Given the description of an element on the screen output the (x, y) to click on. 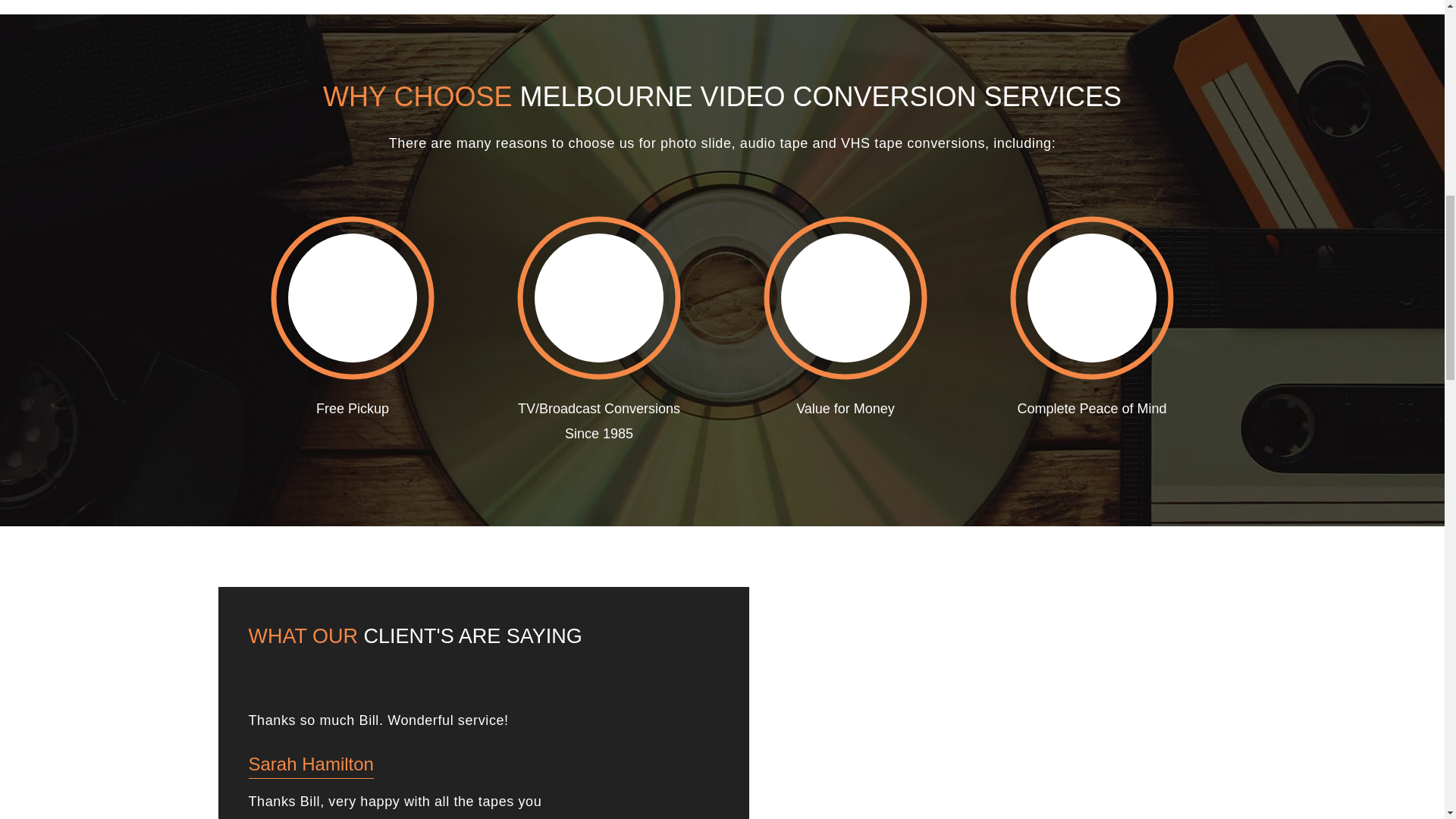
Complete Peace of Mind (1091, 327)
Value for Money (844, 327)
Free Pickup (352, 327)
